Given the description of an element on the screen output the (x, y) to click on. 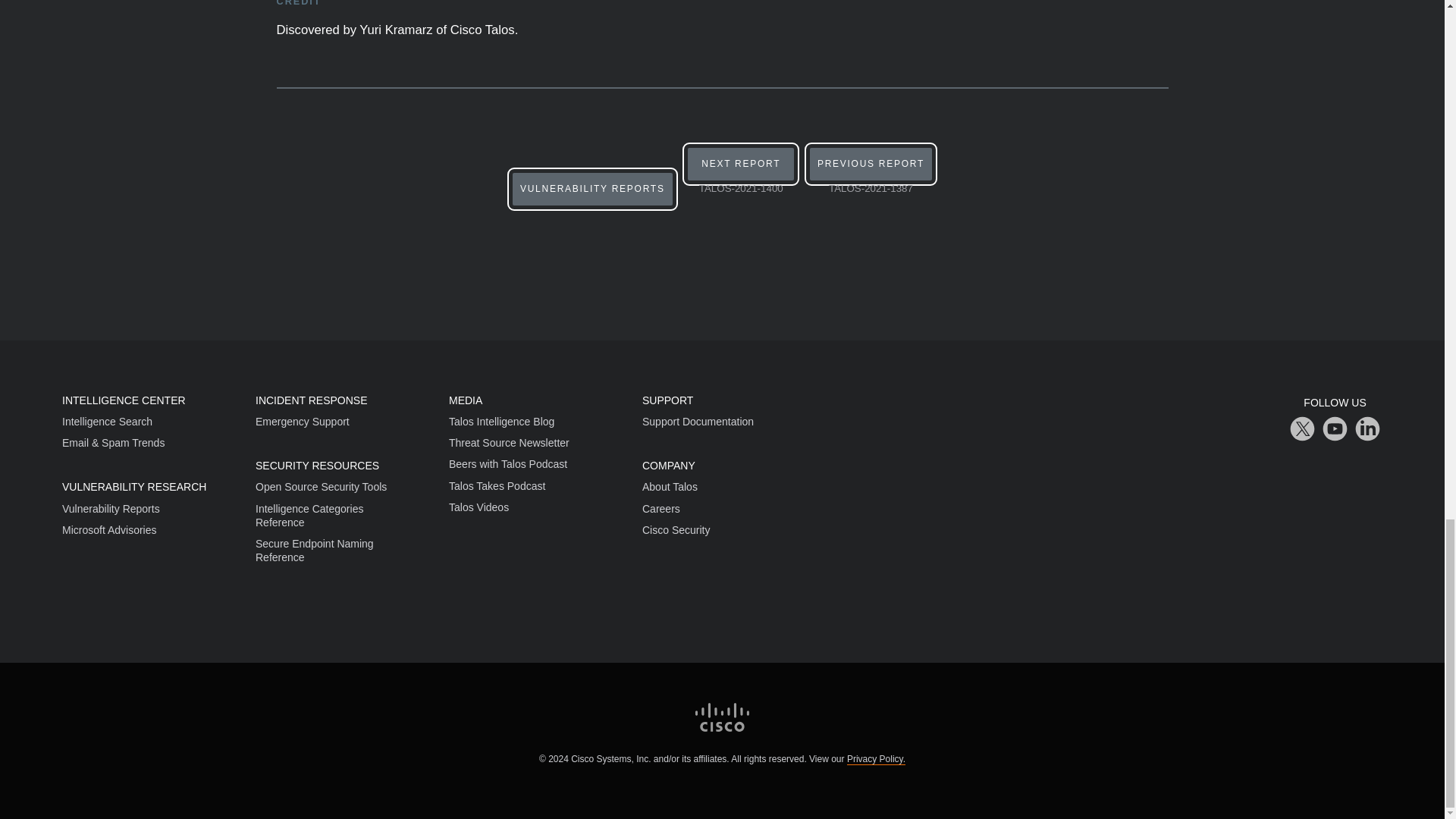
INTELLIGENCE CENTER (870, 173)
VULNERABILITY REPORTS (124, 399)
Vulnerability Reports (740, 173)
VULNERABILITY RESEARCH (592, 189)
VULNERABILITY REPORTS (111, 508)
Intelligence Search (134, 486)
PREVIOUS REPORT (592, 188)
NEXT REPORT (107, 421)
